Given the description of an element on the screen output the (x, y) to click on. 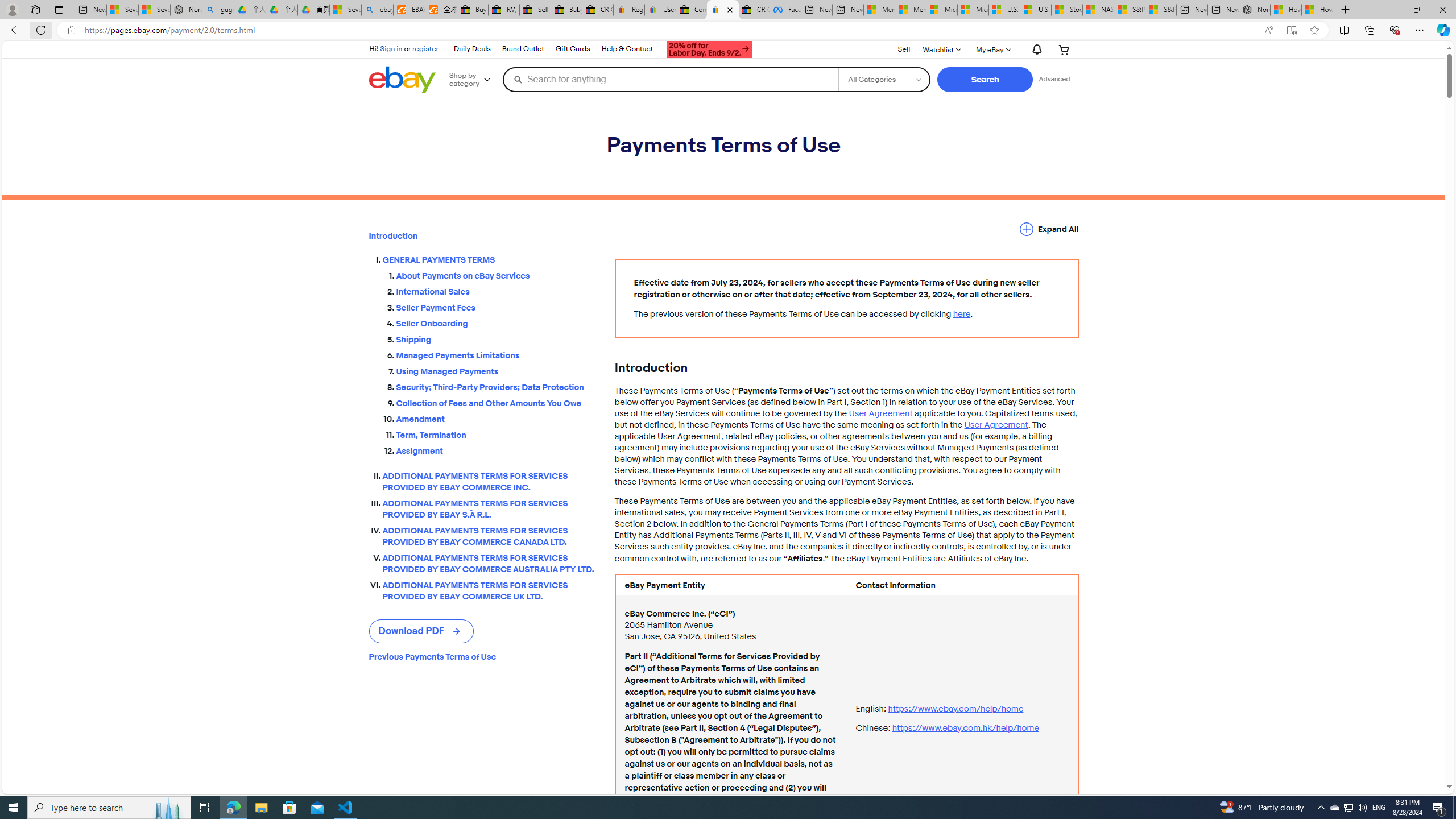
International Sales (496, 291)
Get the coupon now (709, 49)
Register: Create a personal eBay account (628, 9)
Consumer Health Data Privacy Policy - eBay Inc. (691, 9)
Class: ski-btn__arrow (456, 631)
eBay Home (401, 79)
Gift Cards (571, 49)
Help & Contact (626, 49)
Introduction (482, 236)
Amendment (496, 416)
